Given the description of an element on the screen output the (x, y) to click on. 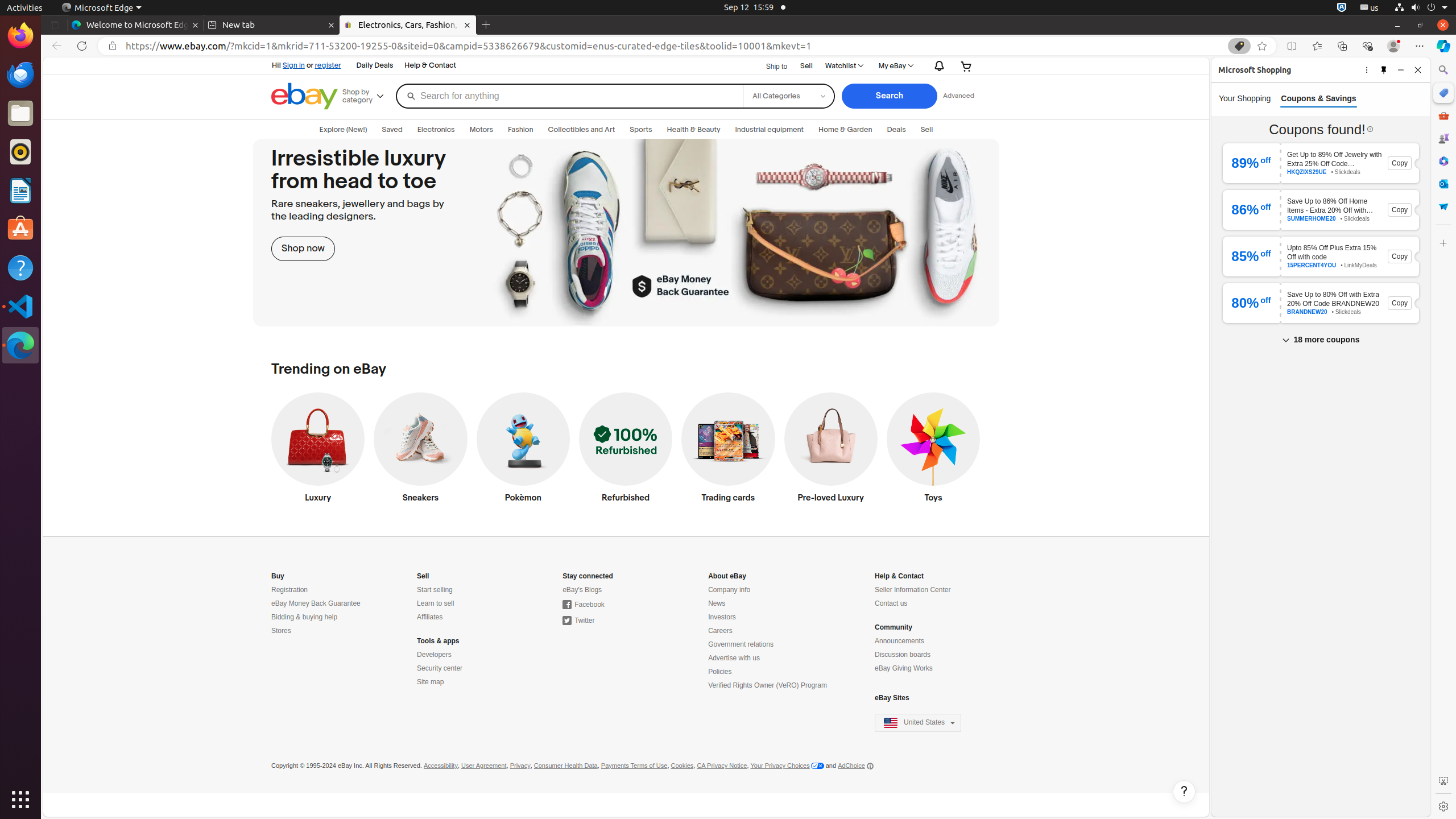
Buy Element type: link (277, 576)
Unpin side pane Element type: push-button (1383, 69)
Shop by category Element type: push-button (366, 95)
Advanced Search Element type: link (957, 95)
Electronics, Cars, Fashion, Collectibles & More | eBay Element type: page-tab (407, 25)
